Given the description of an element on the screen output the (x, y) to click on. 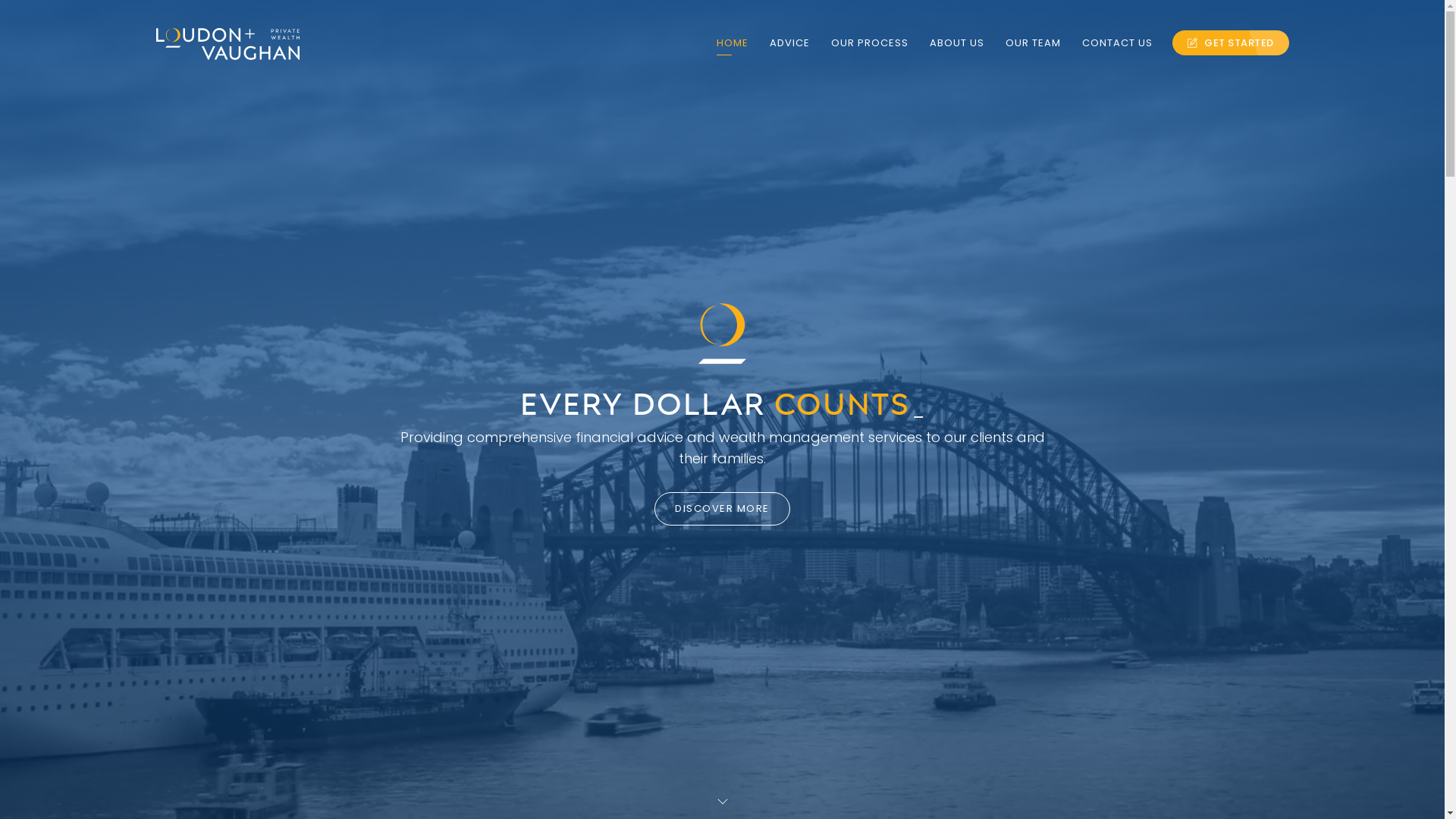
ABOUT US Element type: text (956, 43)
Loudon & Vaughan - Private Wealth Element type: hover (227, 43)
CONTACT US Element type: text (1117, 43)
OUR TEAM Element type: text (1033, 43)
GET STARTED Element type: text (1230, 42)
ADVICE Element type: text (789, 43)
HOME Element type: text (732, 43)
DISCOVER MORE Element type: text (722, 508)
OUR PROCESS Element type: text (869, 43)
